Given the description of an element on the screen output the (x, y) to click on. 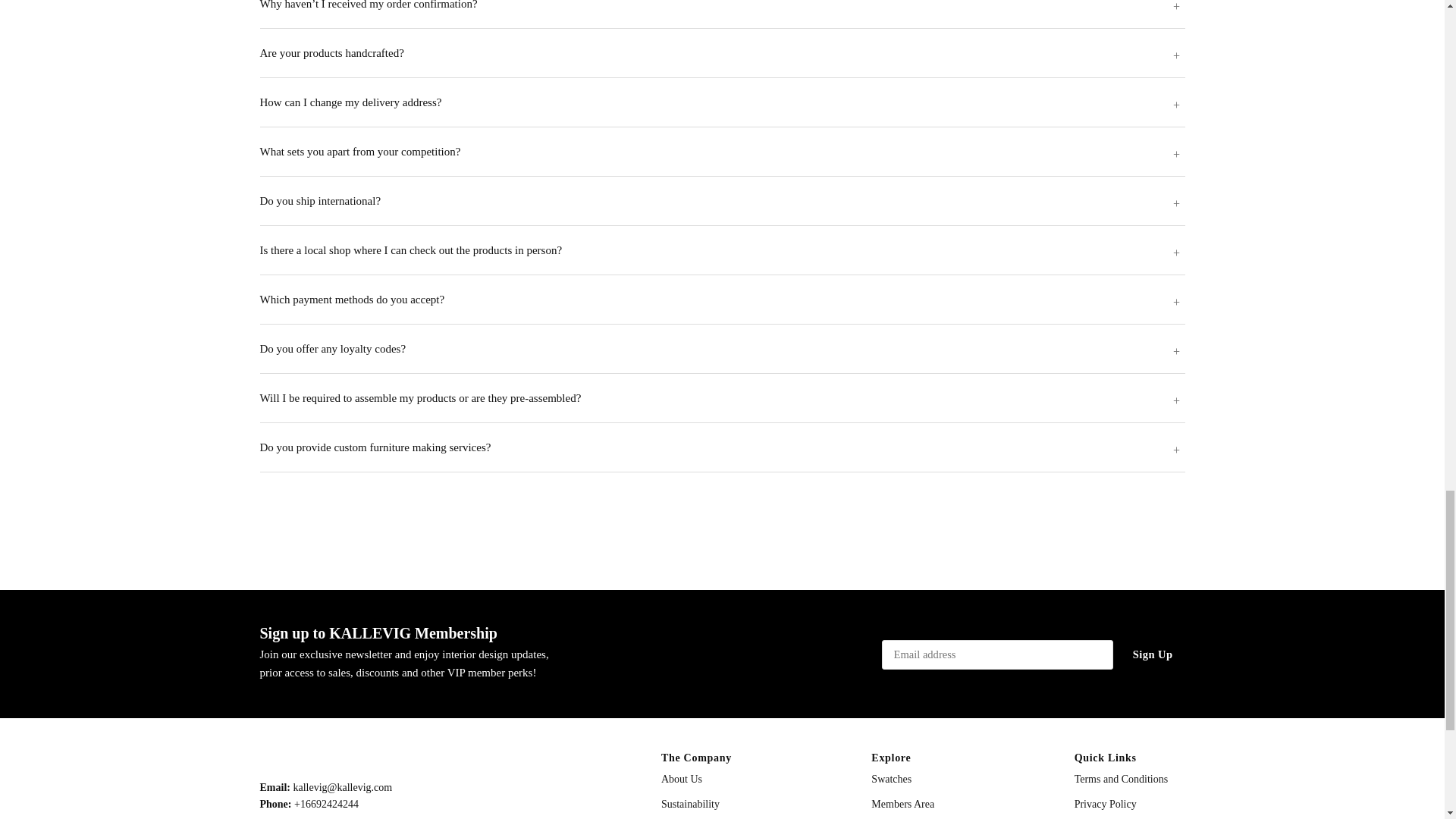
Store phone number (326, 803)
